Given the description of an element on the screen output the (x, y) to click on. 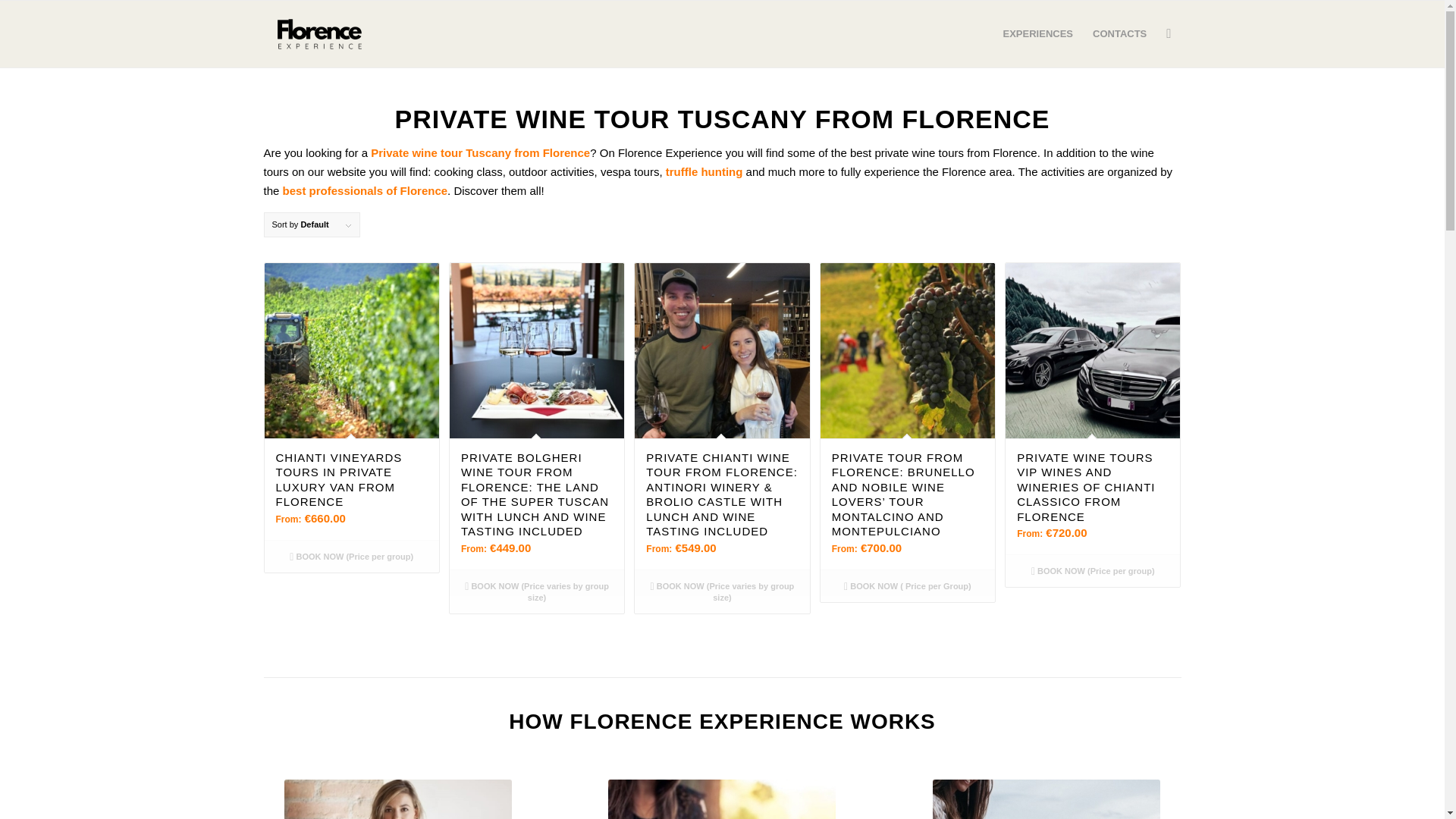
CONTACTS (1119, 33)
EXPERIENCES (1037, 33)
fhdfg-495x400 (721, 799)
